Given the description of an element on the screen output the (x, y) to click on. 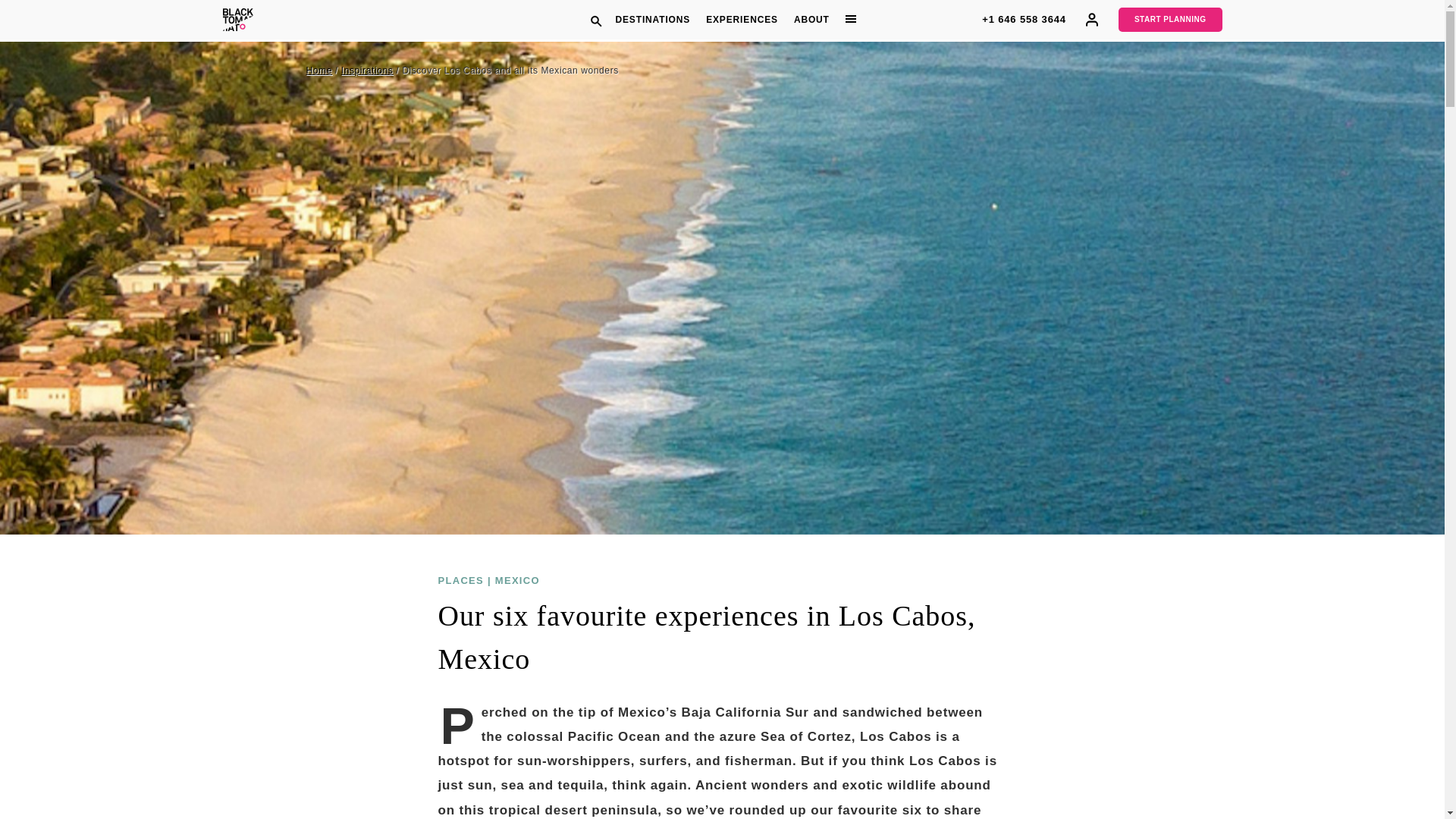
experiences (741, 19)
destinations (652, 19)
about (810, 19)
